Given the description of an element on the screen output the (x, y) to click on. 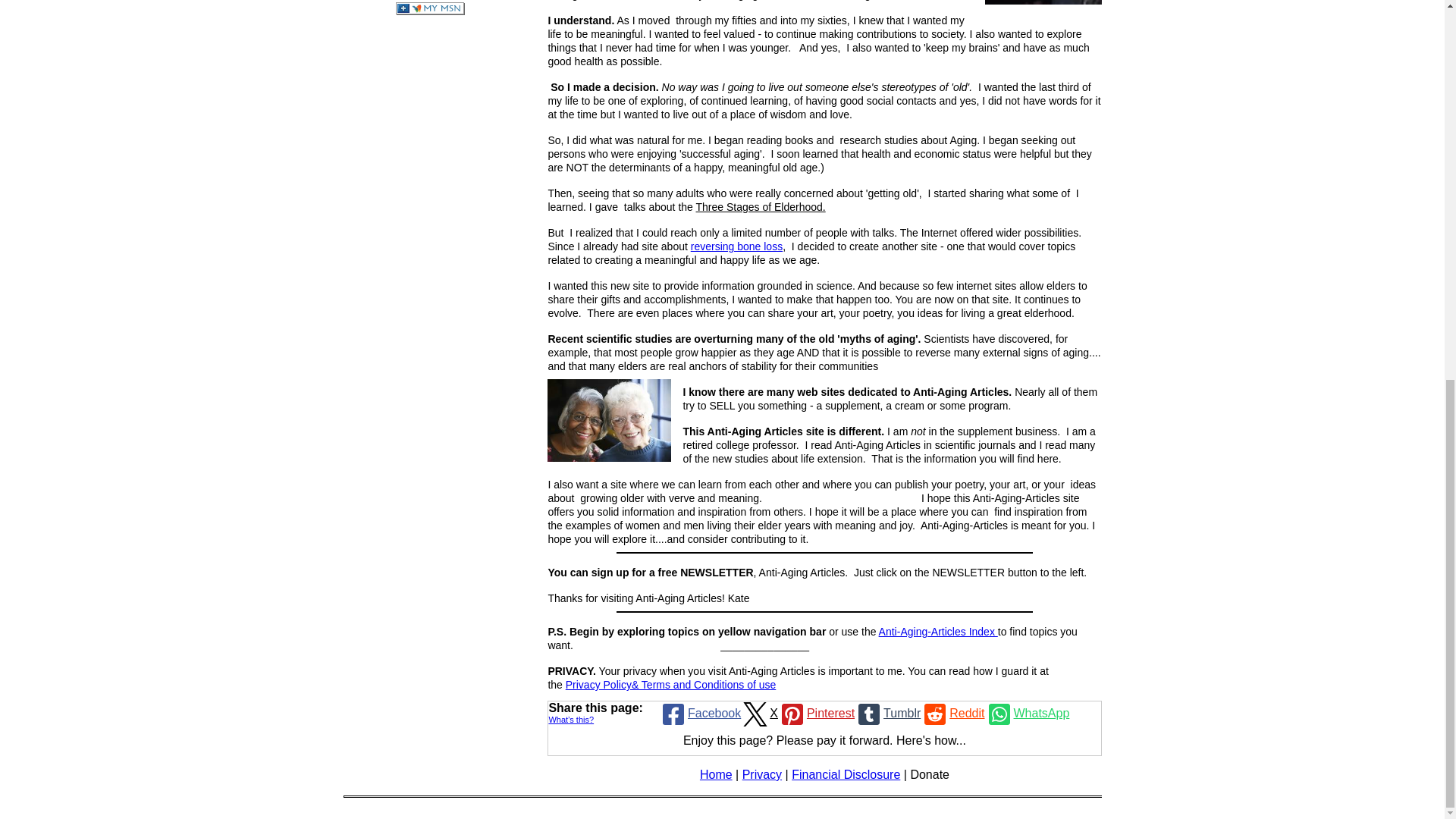
Privacy (761, 774)
X (759, 713)
Home (716, 774)
Pinterest (815, 713)
Tumblr (887, 713)
Facebook (700, 713)
Reddit (952, 713)
WhatsApp (1027, 713)
Anti-Aging-Articles Index  (938, 631)
reversing bone loss (736, 246)
